Given the description of an element on the screen output the (x, y) to click on. 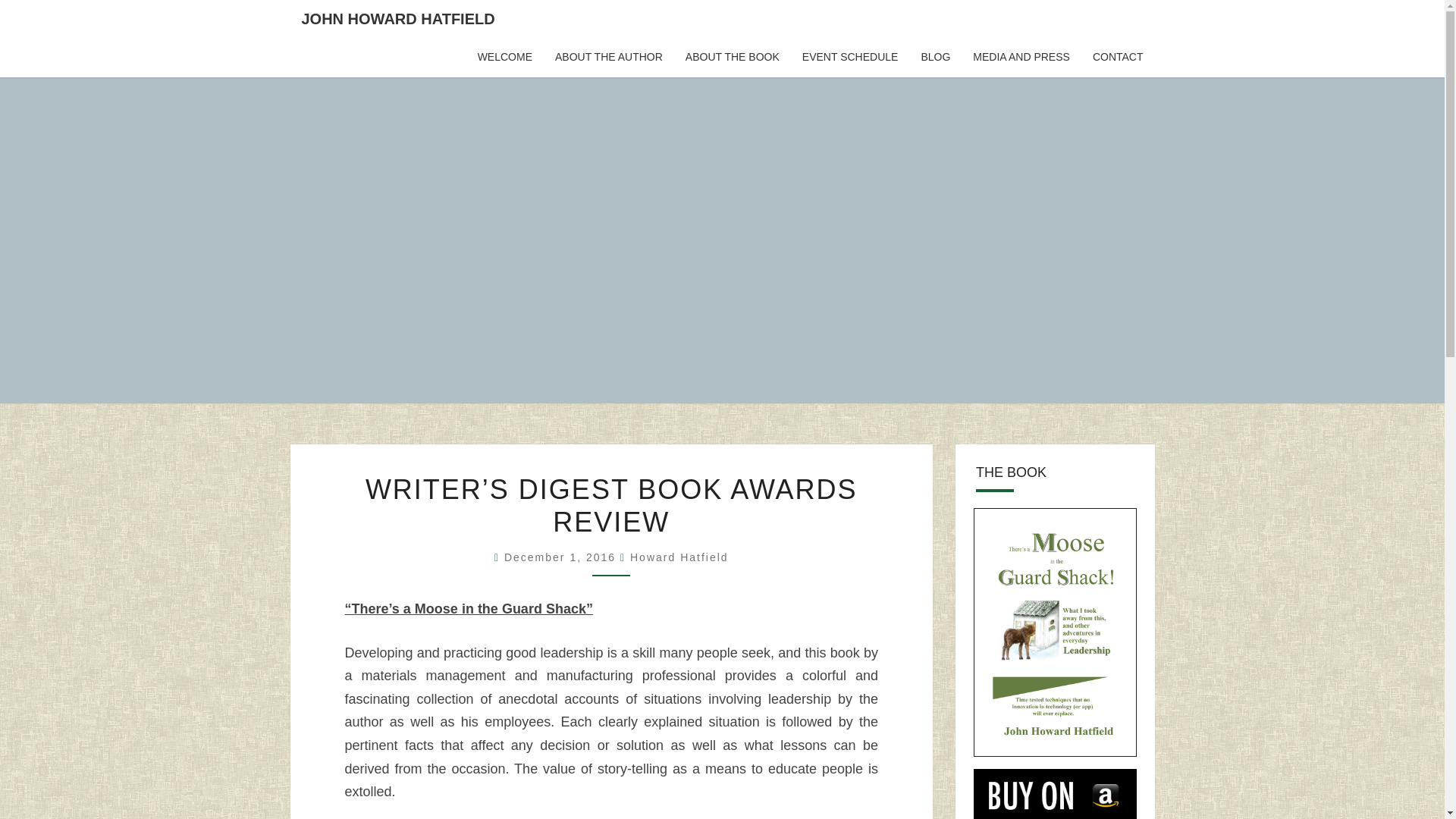
EVENT SCHEDULE (850, 56)
ABOUT THE BOOK (732, 56)
Howard Hatfield (679, 557)
BLOG (934, 56)
View all posts by Howard Hatfield (679, 557)
MEDIA AND PRESS (1020, 56)
December 1, 2016 (561, 557)
WELCOME (504, 56)
JOHN HOWARD HATFIELD (397, 18)
9:36 pm (561, 557)
ABOUT THE AUTHOR (608, 56)
CONTACT (1117, 56)
